Given the description of an element on the screen output the (x, y) to click on. 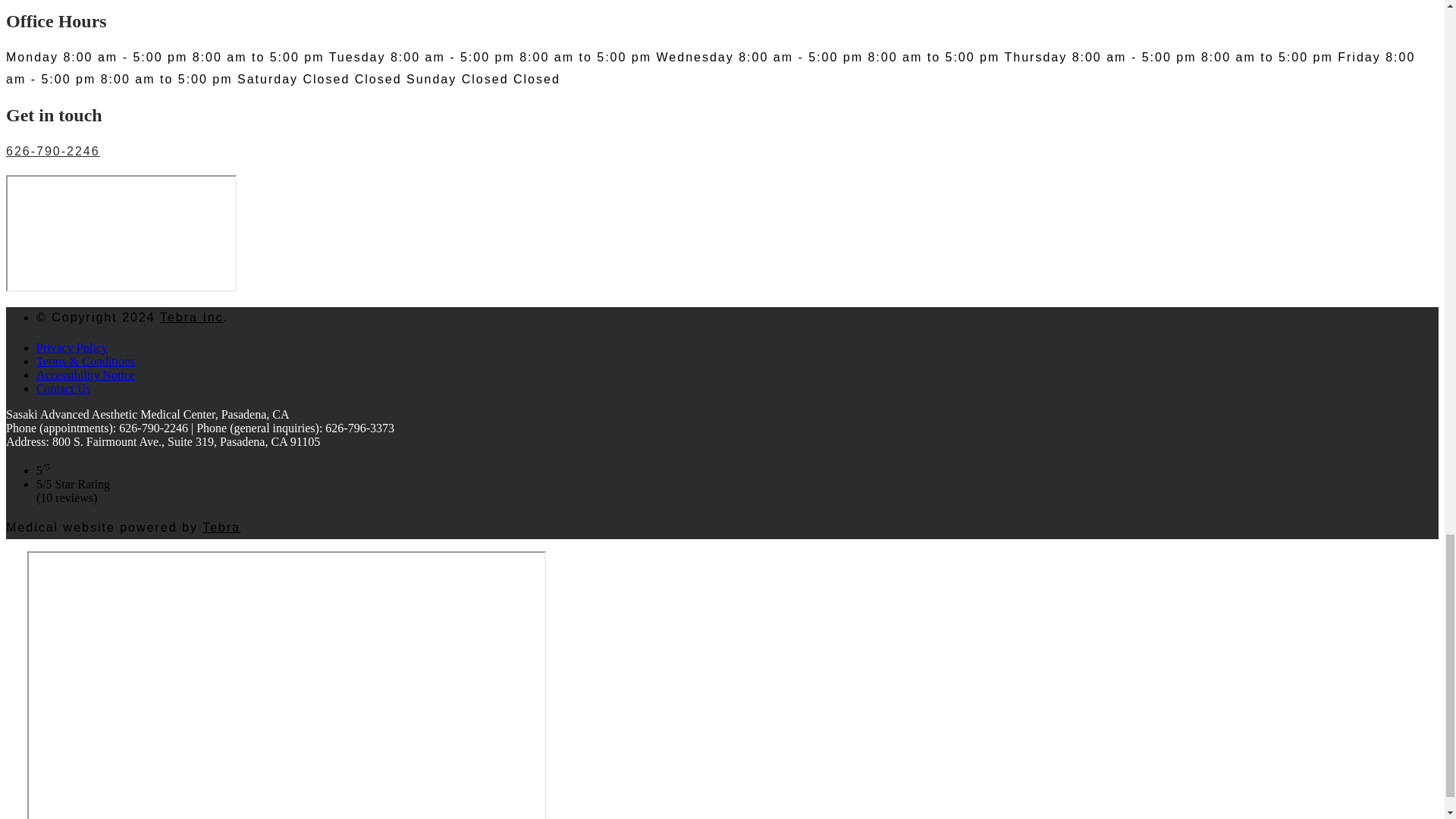
Map of Pasadena (120, 233)
